Given the description of an element on the screen output the (x, y) to click on. 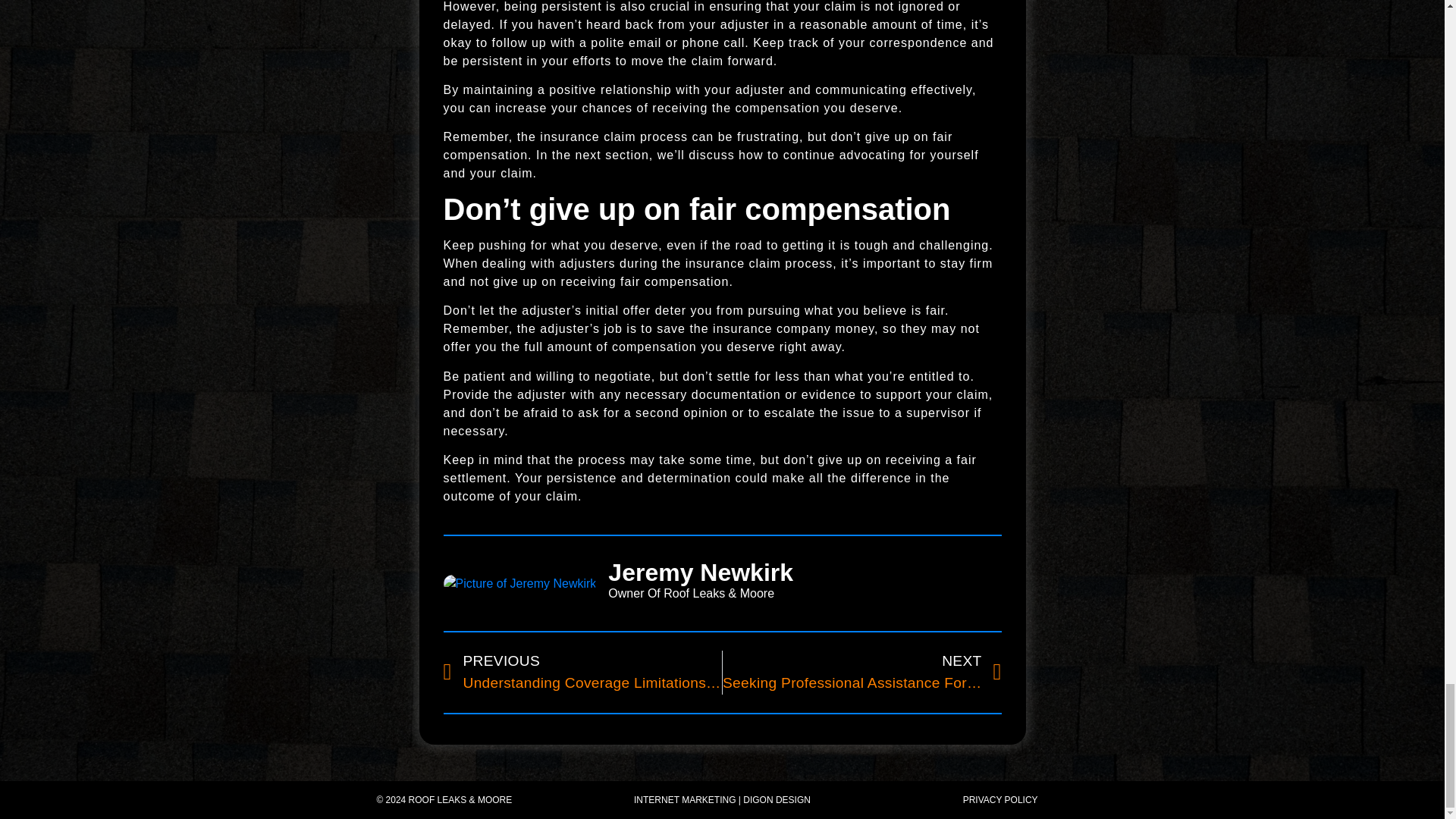
Jeremy Newkirk (804, 572)
PRIVACY POLICY (1000, 799)
